Given the description of an element on the screen output the (x, y) to click on. 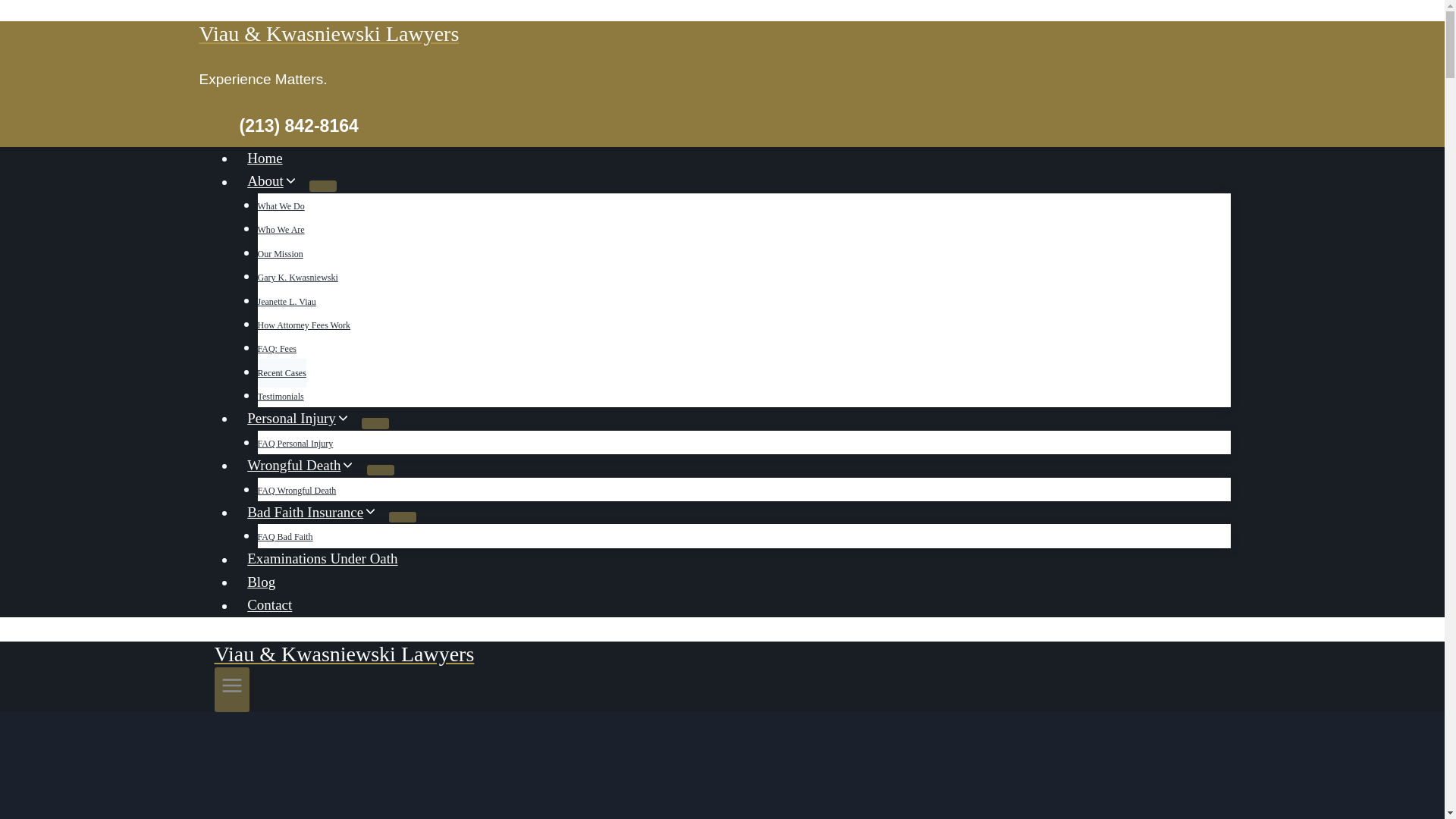
Recent Cases (281, 372)
Bad Faith Insurance (311, 512)
Contact (268, 604)
Who We Are (280, 229)
Jeanette L. Viau (286, 300)
Gary K. Kwasniewski (297, 276)
Wrongful Death (300, 465)
Testimonials (280, 396)
Personal Injury (298, 418)
Blog (260, 581)
Our Mission (279, 253)
FAQ Wrongful Death (296, 490)
How Attorney Fees Work (303, 325)
